Given the description of an element on the screen output the (x, y) to click on. 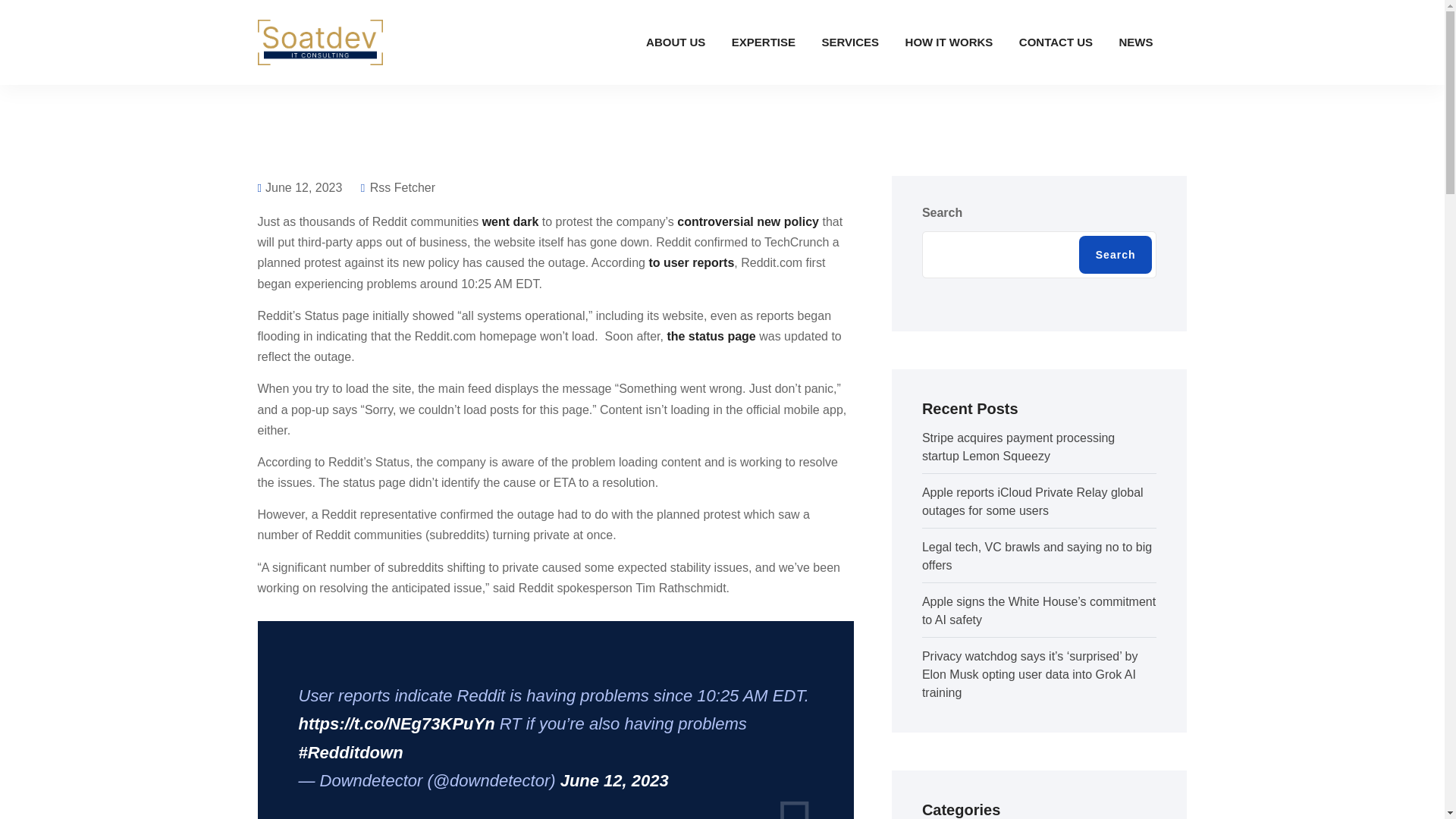
NEWS (1134, 41)
ABOUT US (675, 41)
CONTACT US (1055, 41)
June 12, 2023 (614, 780)
News (1134, 41)
Legal tech, VC brawls and saying no to big offers (1036, 555)
About us (675, 41)
Expertise (763, 41)
Stripe acquires payment processing startup Lemon Squeezy (1018, 446)
Rss Fetcher (398, 187)
How it works (948, 41)
Contact Us (1055, 41)
went dark (509, 221)
EXPERTISE (763, 41)
controversial new policy (747, 221)
